Given the description of an element on the screen output the (x, y) to click on. 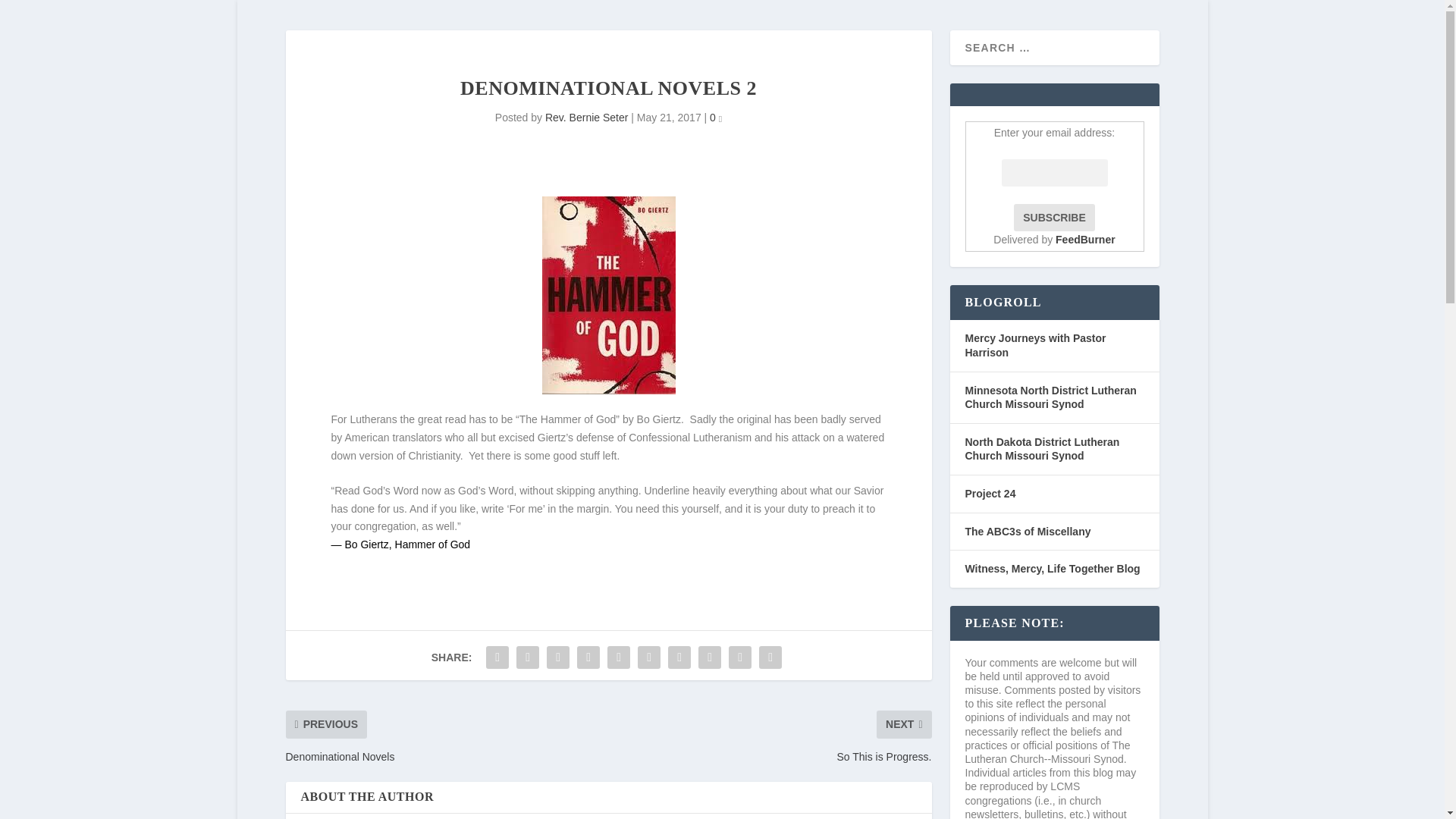
Share "Denominational Novels 2" via Tumblr (588, 657)
Search (31, 13)
Rev. Bernie Seter (585, 117)
Share "Denominational Novels 2" via Email (740, 657)
Hammer of God (432, 544)
Share "Denominational Novels 2" via Facebook (496, 657)
Share "Denominational Novels 2" via Pinterest (618, 657)
Bo Giertz (365, 544)
0 (716, 117)
Posts by Rev. Bernie Seter (585, 117)
Share "Denominational Novels 2" via LinkedIn (648, 657)
Share "Denominational Novels 2" via Buffer (678, 657)
Share "Denominational Novels 2" via Print (770, 657)
Share "Denominational Novels 2" via Stumbleupon (709, 657)
Share "Denominational Novels 2" via Twitter (527, 657)
